Given the description of an element on the screen output the (x, y) to click on. 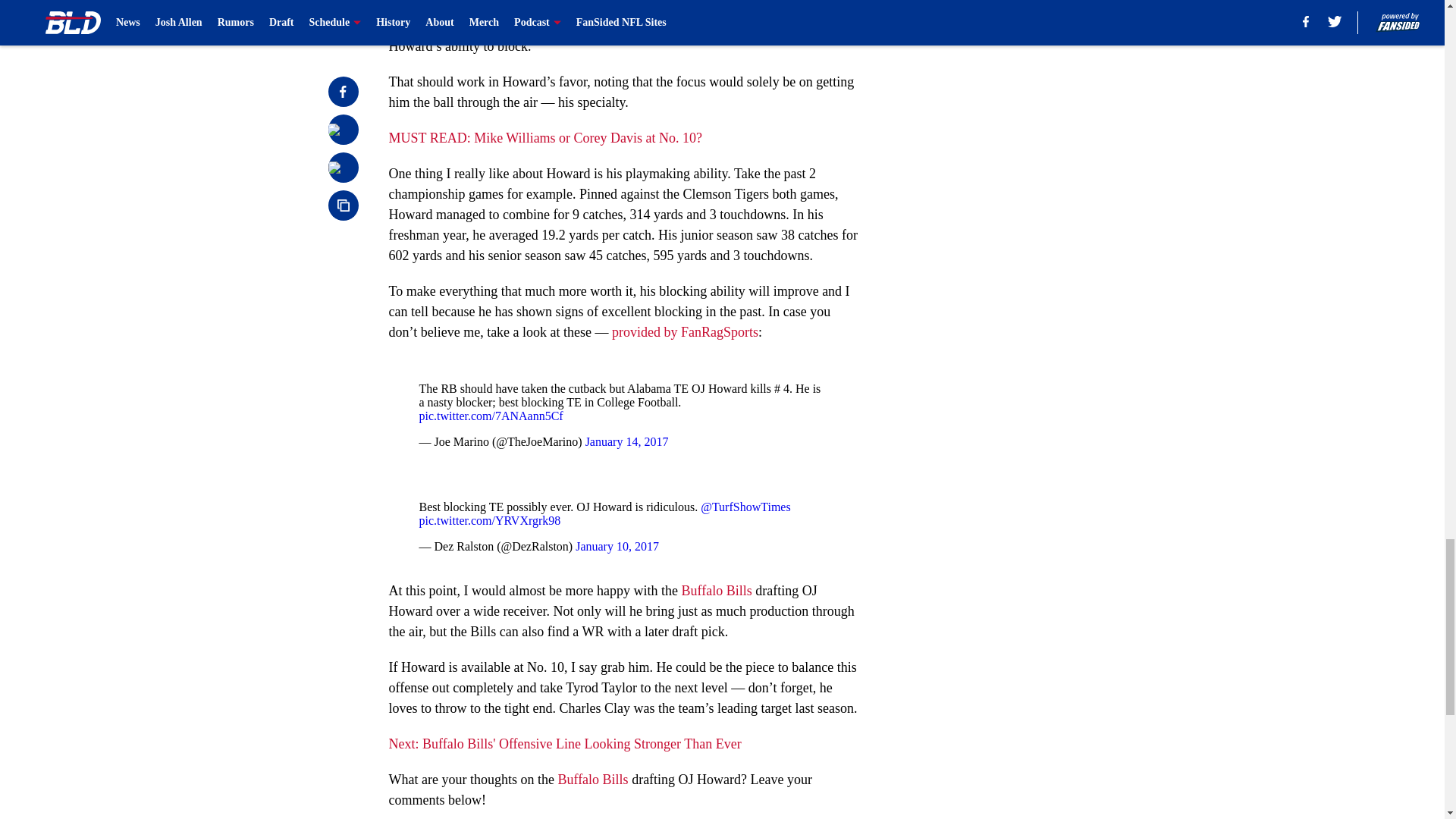
Buffalo Bills (592, 779)
MUST READ: Mike Williams or Corey Davis at No. 10? (544, 137)
provided by FanRagSports (684, 331)
January 14, 2017 (626, 440)
January 10, 2017 (617, 545)
Buffalo Bills (716, 590)
